Given the description of an element on the screen output the (x, y) to click on. 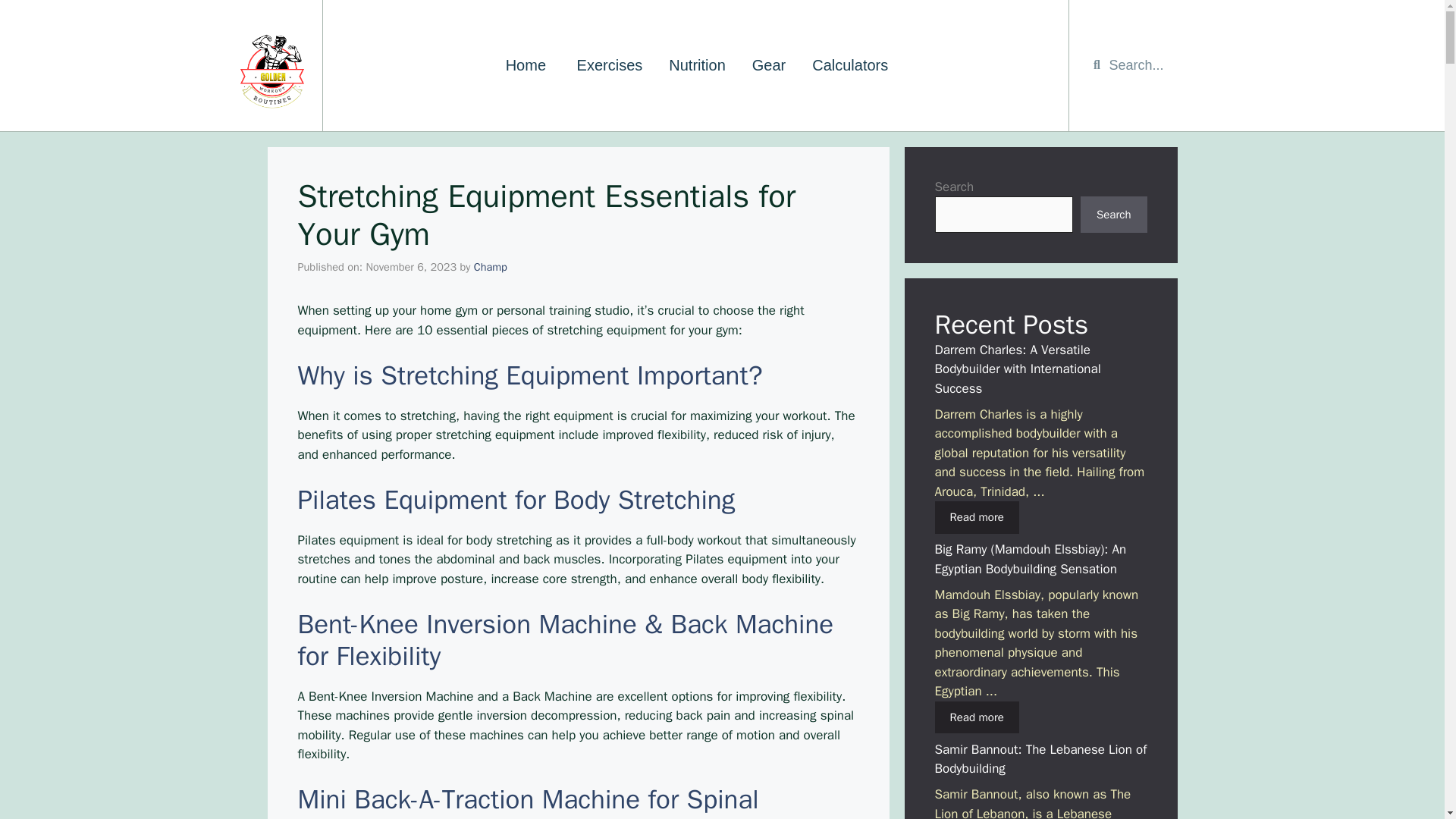
Exercises (609, 65)
Champ (490, 266)
Nutrition (696, 65)
View all posts by Champ (490, 266)
Calculators (850, 65)
Gear (769, 65)
Home  (527, 65)
